Given the description of an element on the screen output the (x, y) to click on. 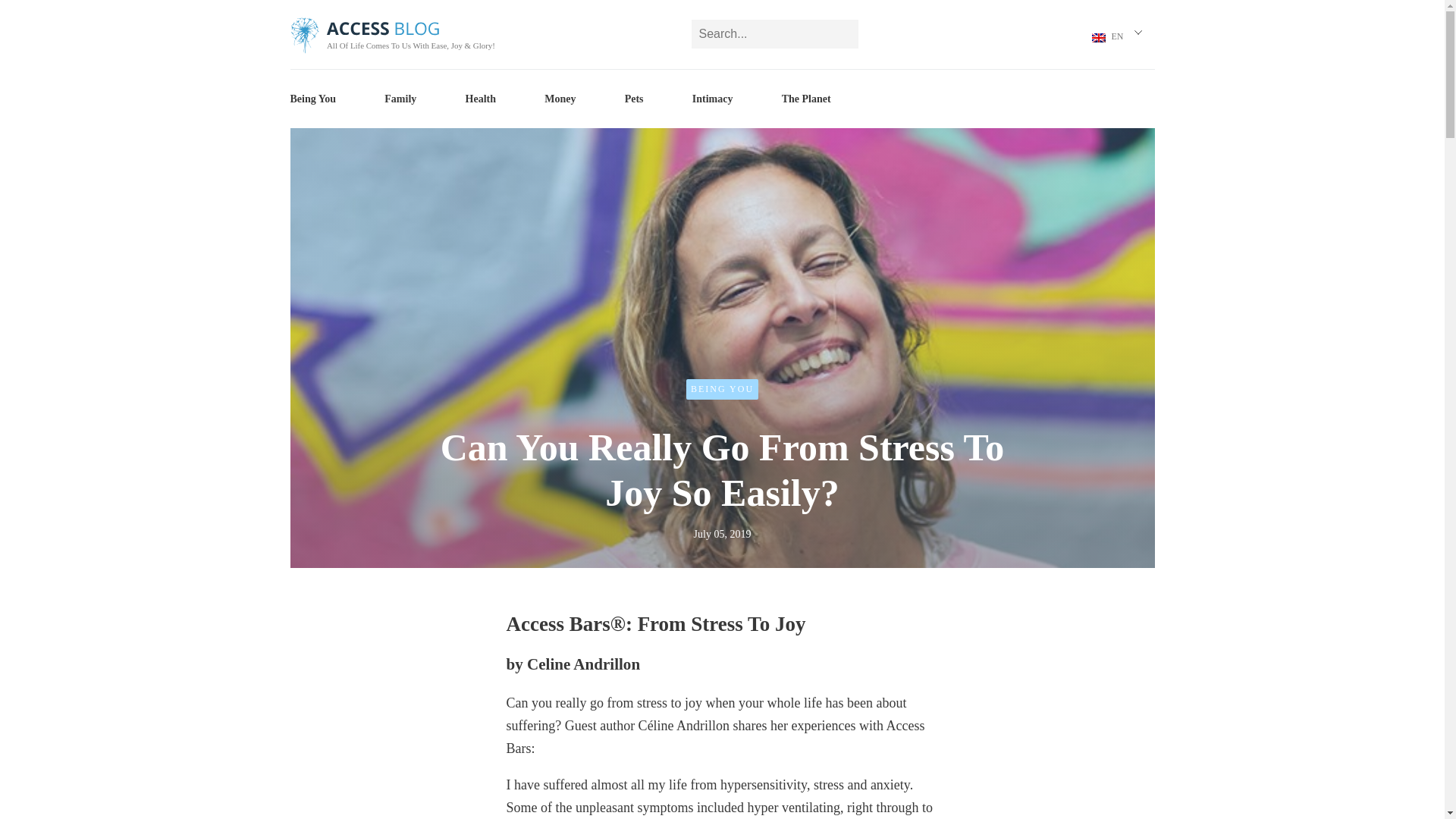
EN (1110, 38)
